Given the description of an element on the screen output the (x, y) to click on. 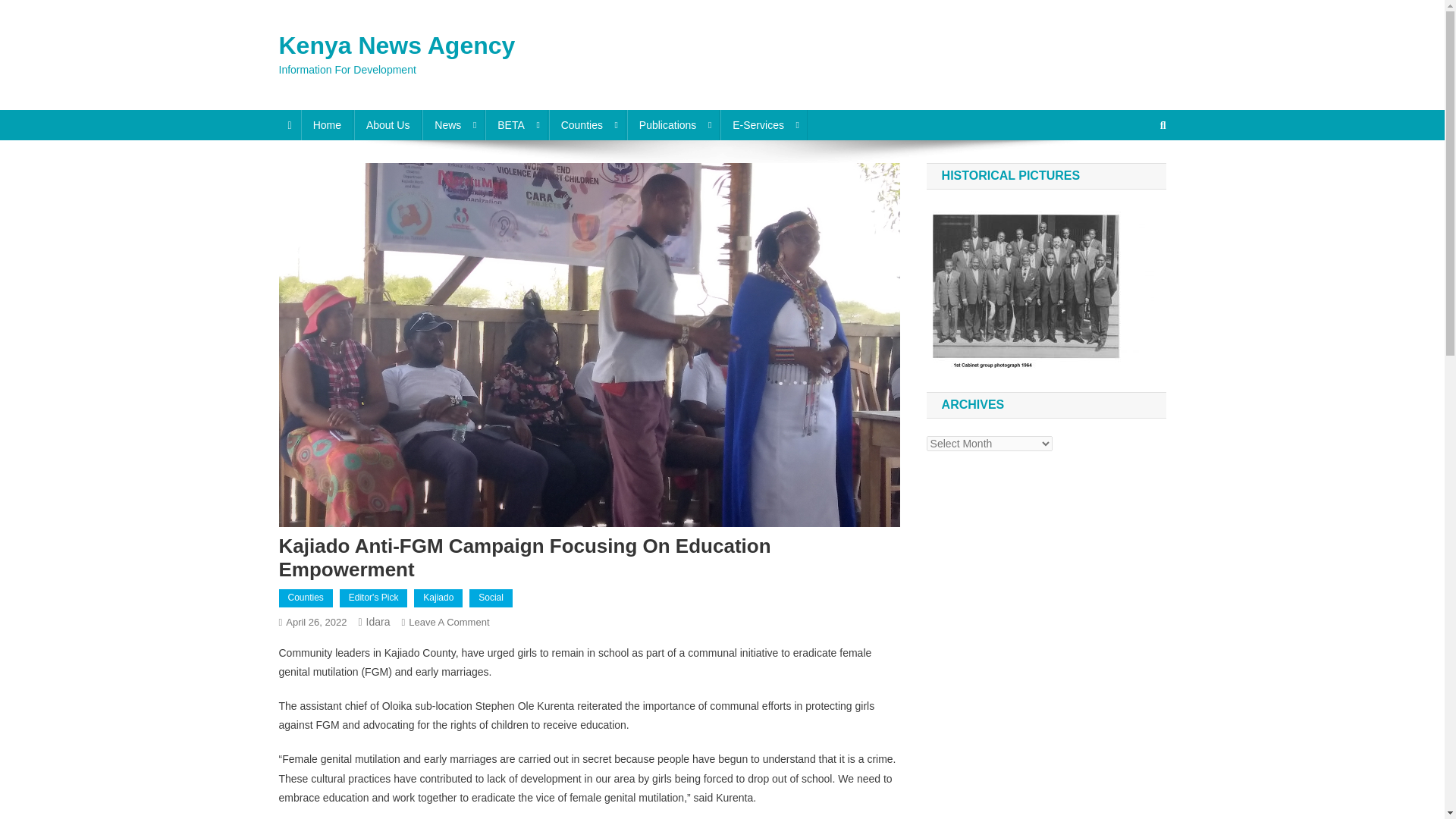
About Us (387, 124)
BETA (516, 124)
Kenya News Agency (397, 44)
Home (327, 124)
Counties (587, 124)
News (453, 124)
